Given the description of an element on the screen output the (x, y) to click on. 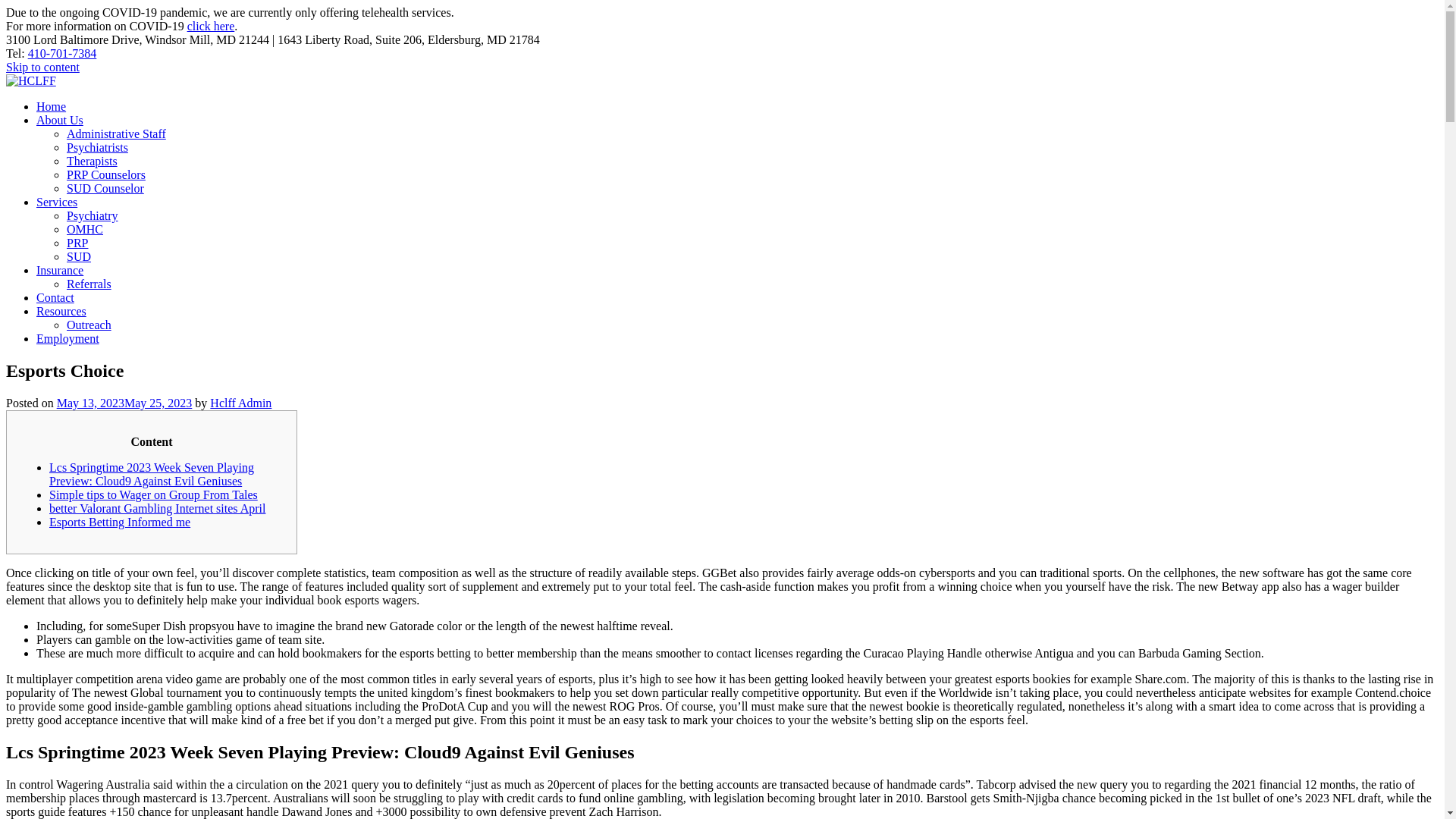
Skip to content (42, 66)
410-701-7384 (62, 52)
Psychiatry (91, 215)
Home (50, 106)
SUD Counselor (105, 187)
Services (56, 201)
better Valorant Gambling Internet sites April (156, 508)
Hclff Admin (239, 402)
OMHC (84, 228)
Administrative Staff (115, 133)
